Given the description of an element on the screen output the (x, y) to click on. 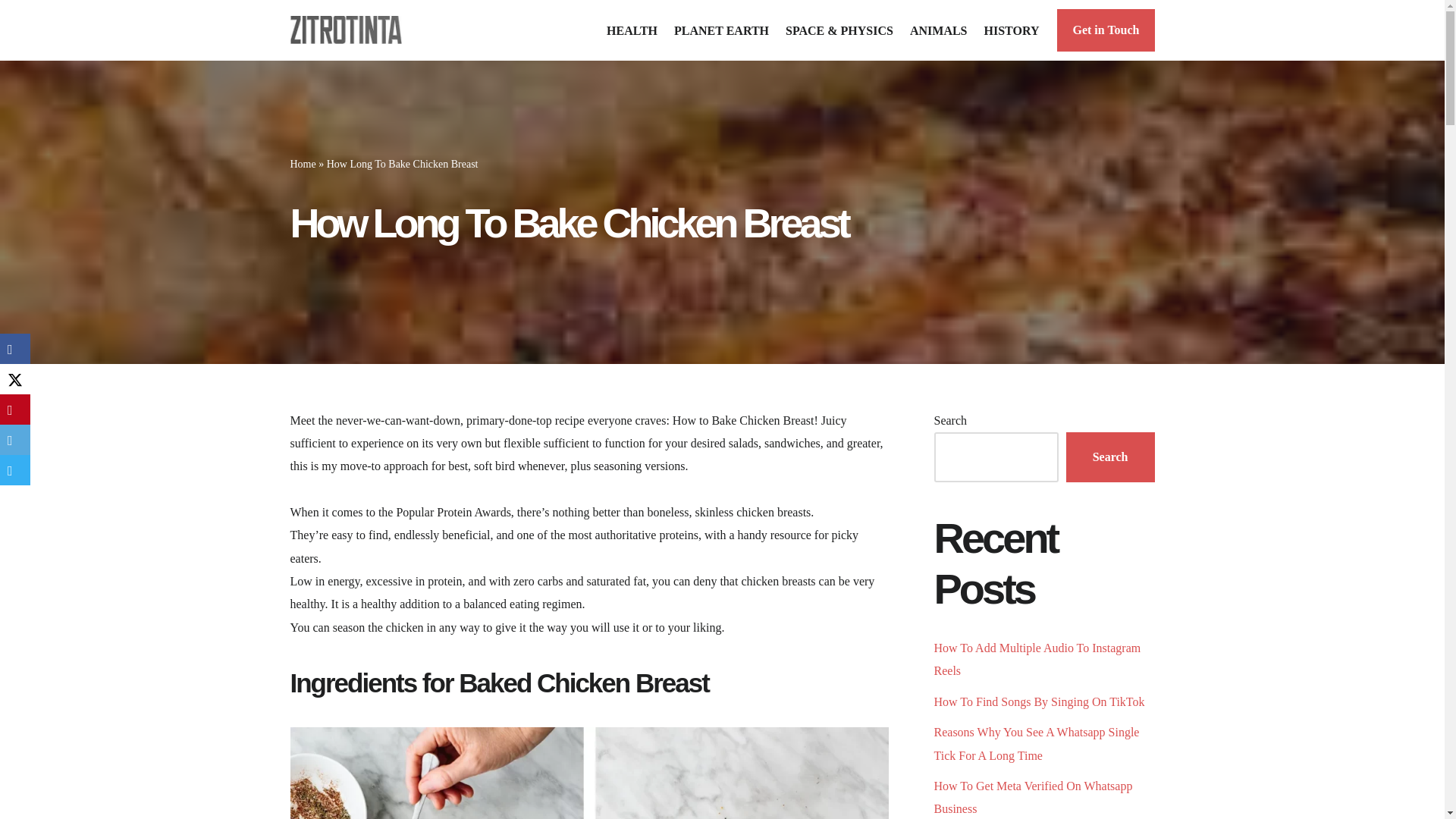
HEALTH (632, 29)
Reasons Why You See A Whatsapp Single Tick For A Long Time (1037, 743)
How To Add Multiple Audio To Instagram Reels (1037, 659)
Skip to content (11, 31)
How To Get Meta Verified On Whatsapp Business (1033, 796)
Home (302, 163)
PLANET EARTH (721, 29)
How To Find Songs By Singing On TikTok (1039, 701)
HISTORY (1011, 29)
ANIMALS (939, 29)
Search (1109, 457)
Get in Touch (1105, 30)
